Given the description of an element on the screen output the (x, y) to click on. 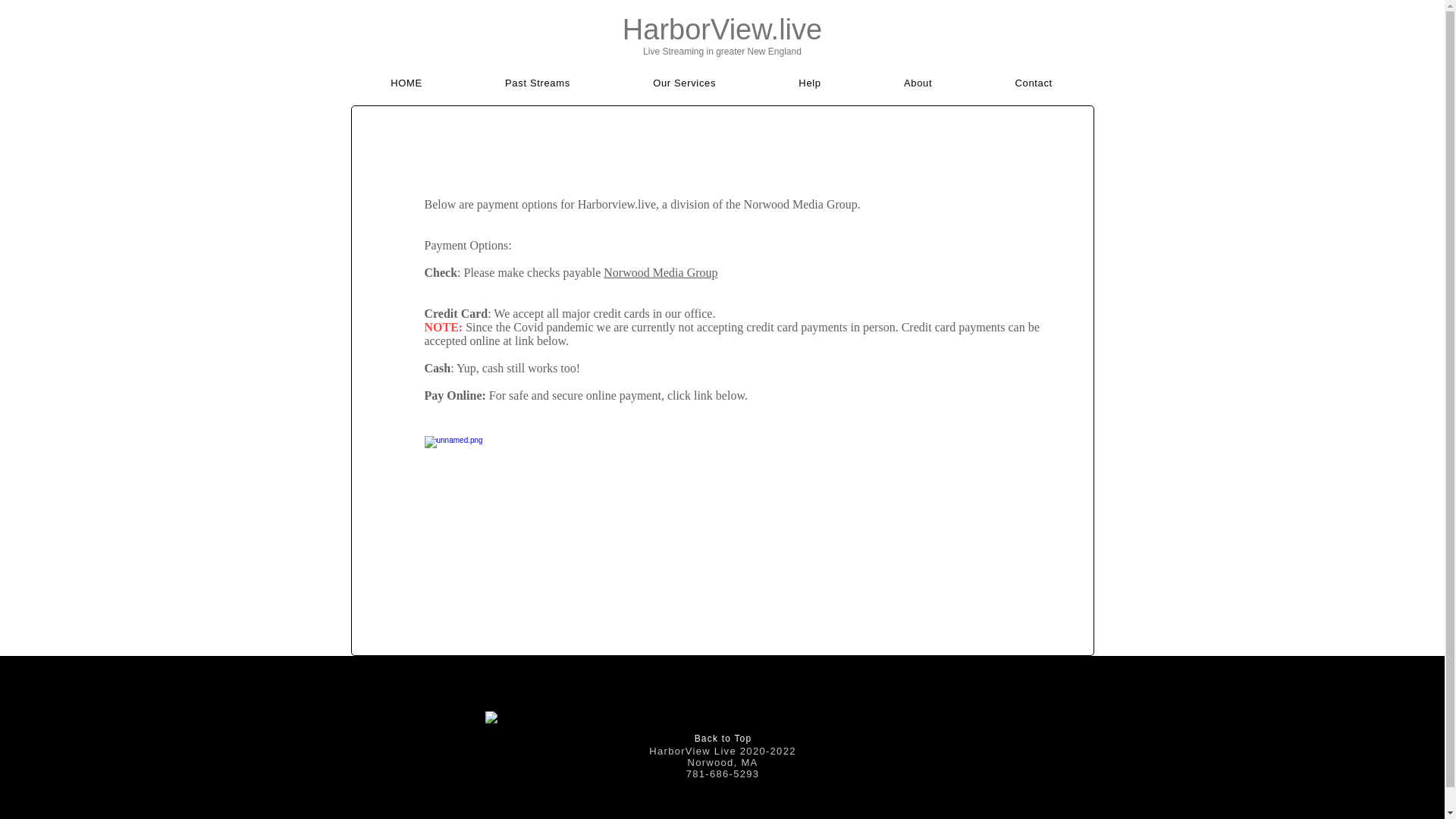
About (917, 82)
Live Streaming in greater New England (722, 50)
Back to Top (723, 738)
HOME (406, 82)
Contact (1033, 82)
Past Streams (536, 82)
Help (810, 82)
Our Services (684, 82)
HarborView.live (722, 29)
